Given the description of an element on the screen output the (x, y) to click on. 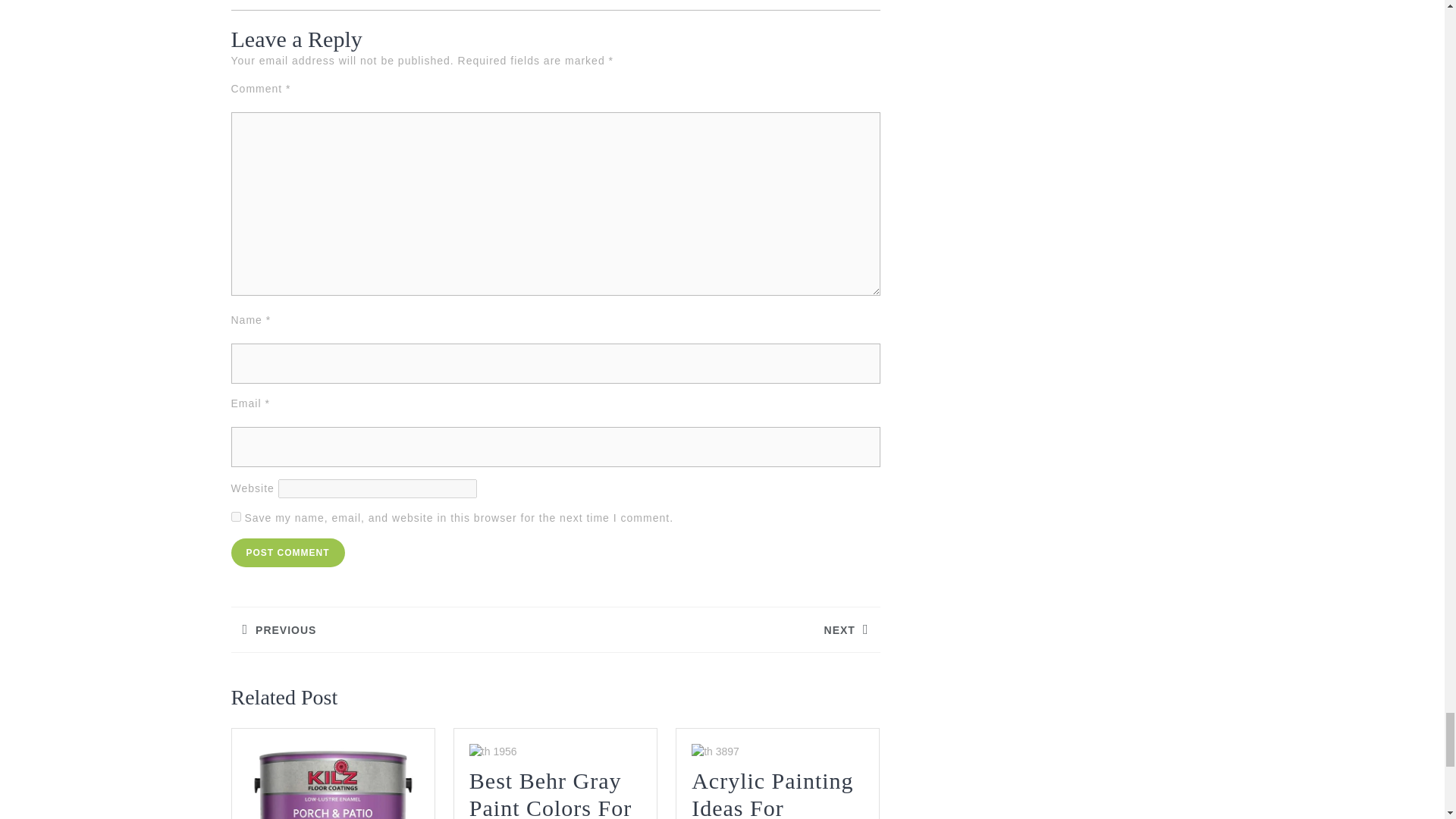
Post Comment (286, 552)
Post Comment (286, 552)
yes (716, 629)
